Given the description of an element on the screen output the (x, y) to click on. 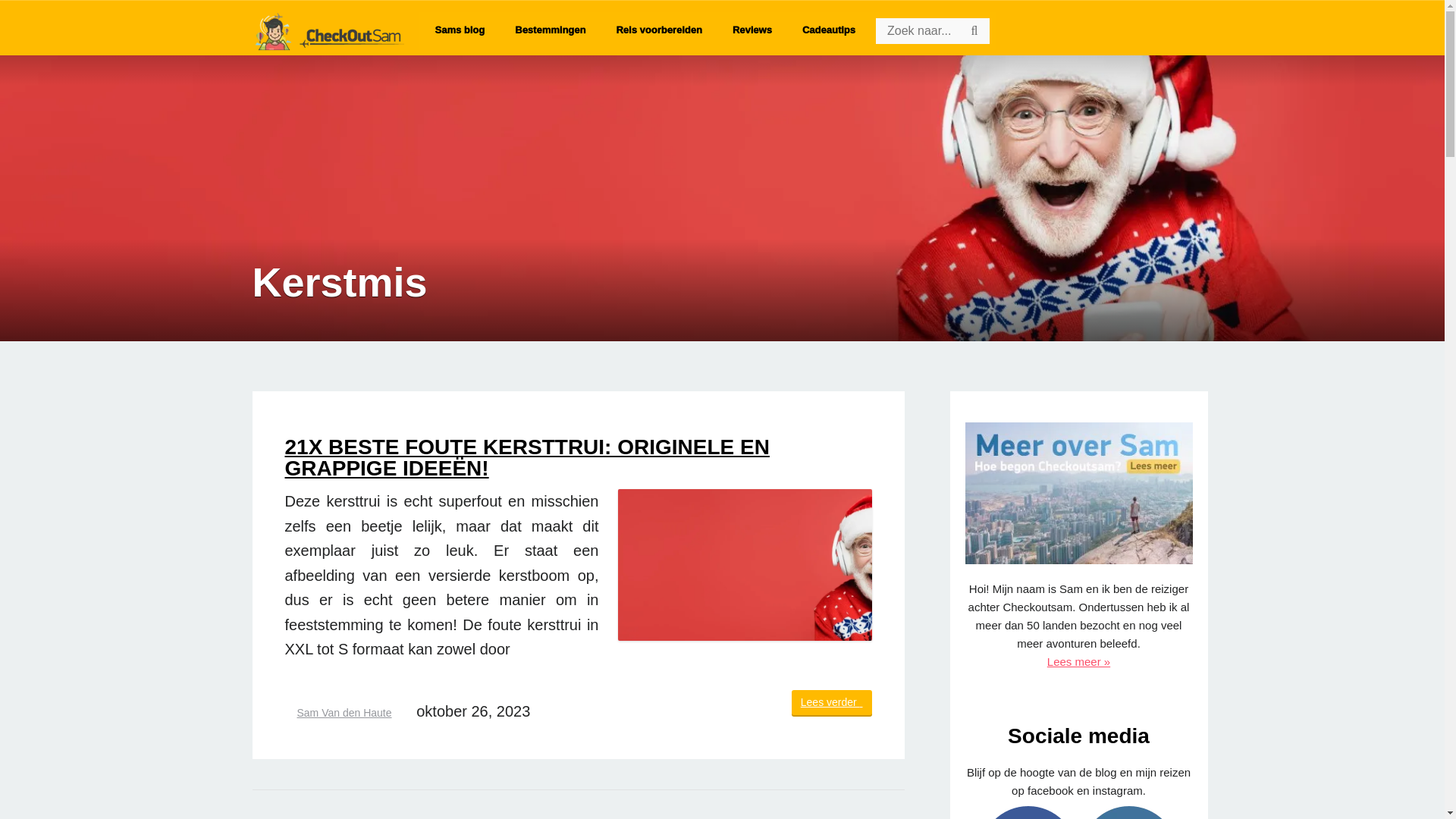
Reis voorbereiden Element type: text (658, 30)
Bestemmingen Element type: text (549, 30)
Sams blog Element type: text (460, 30)
Reviews Element type: text (752, 30)
Cadeautips Element type: text (828, 30)
Check Out Sam Element type: hover (327, 27)
Lees verder   Element type: text (831, 703)
Sam Van den Haute Element type: text (344, 712)
